Given the description of an element on the screen output the (x, y) to click on. 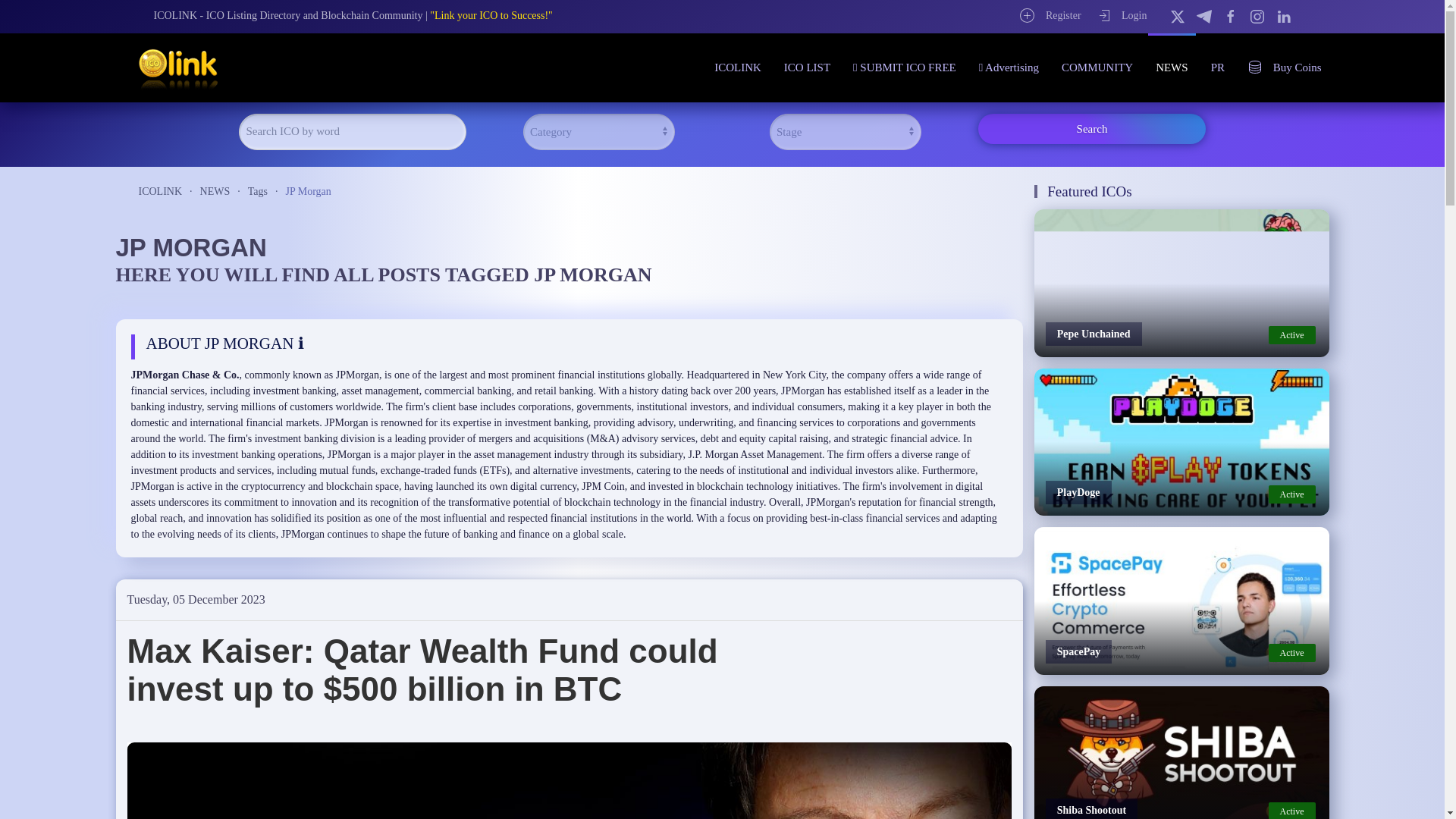
LinkedIN (1282, 15)
Login (1121, 15)
Twitter (1177, 15)
Facebook (1230, 15)
Telegram (1203, 15)
Instagram (1257, 15)
Register (1050, 15)
